Given the description of an element on the screen output the (x, y) to click on. 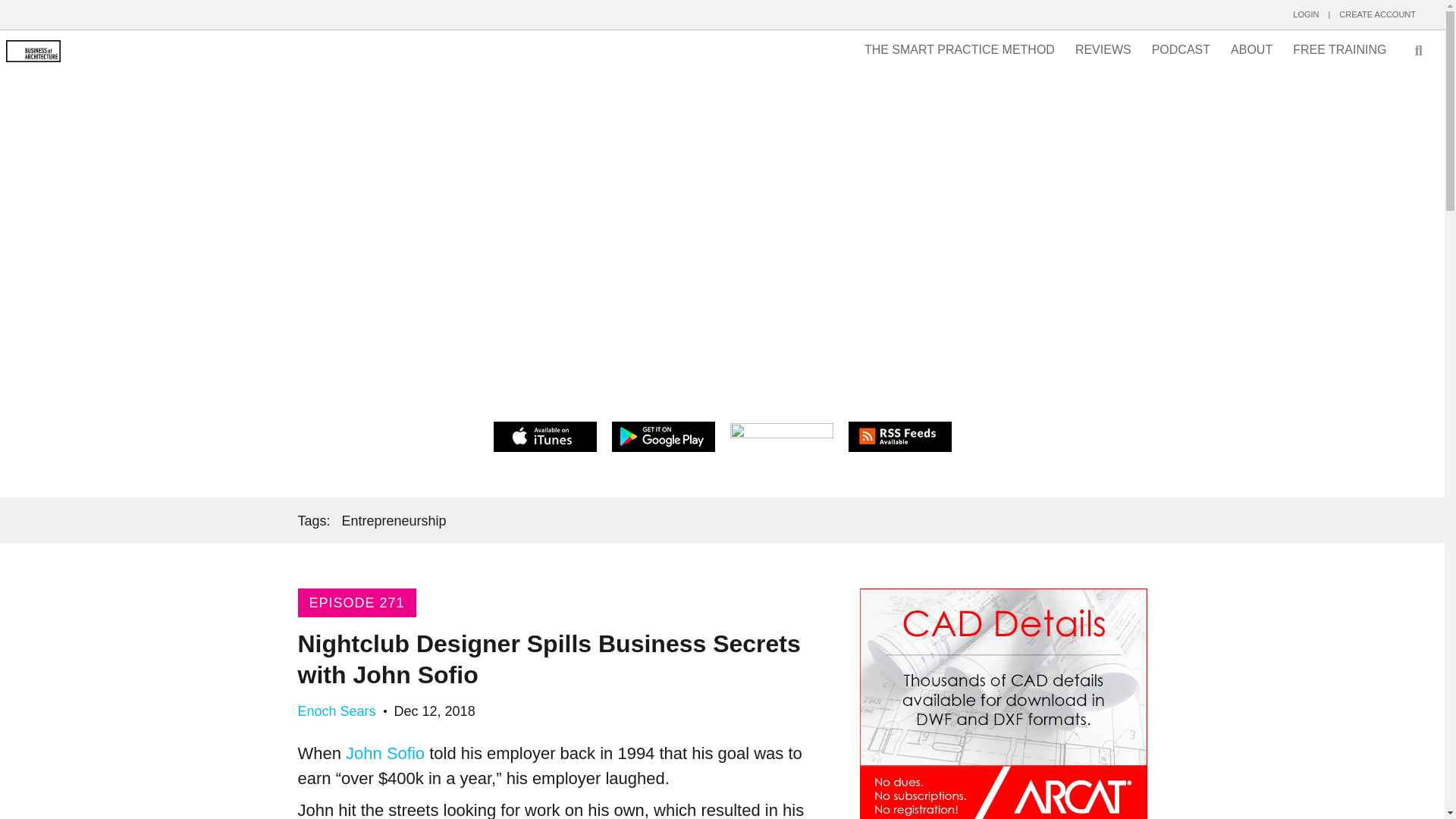
PODCAST (1180, 49)
FREE TRAINING (1339, 49)
John Sofio (385, 752)
ABOUT (1252, 49)
LOGIN (1305, 14)
REVIEWS (1103, 49)
CREATE ACCOUNT (1378, 14)
THE SMART PRACTICE METHOD (959, 49)
